Given the description of an element on the screen output the (x, y) to click on. 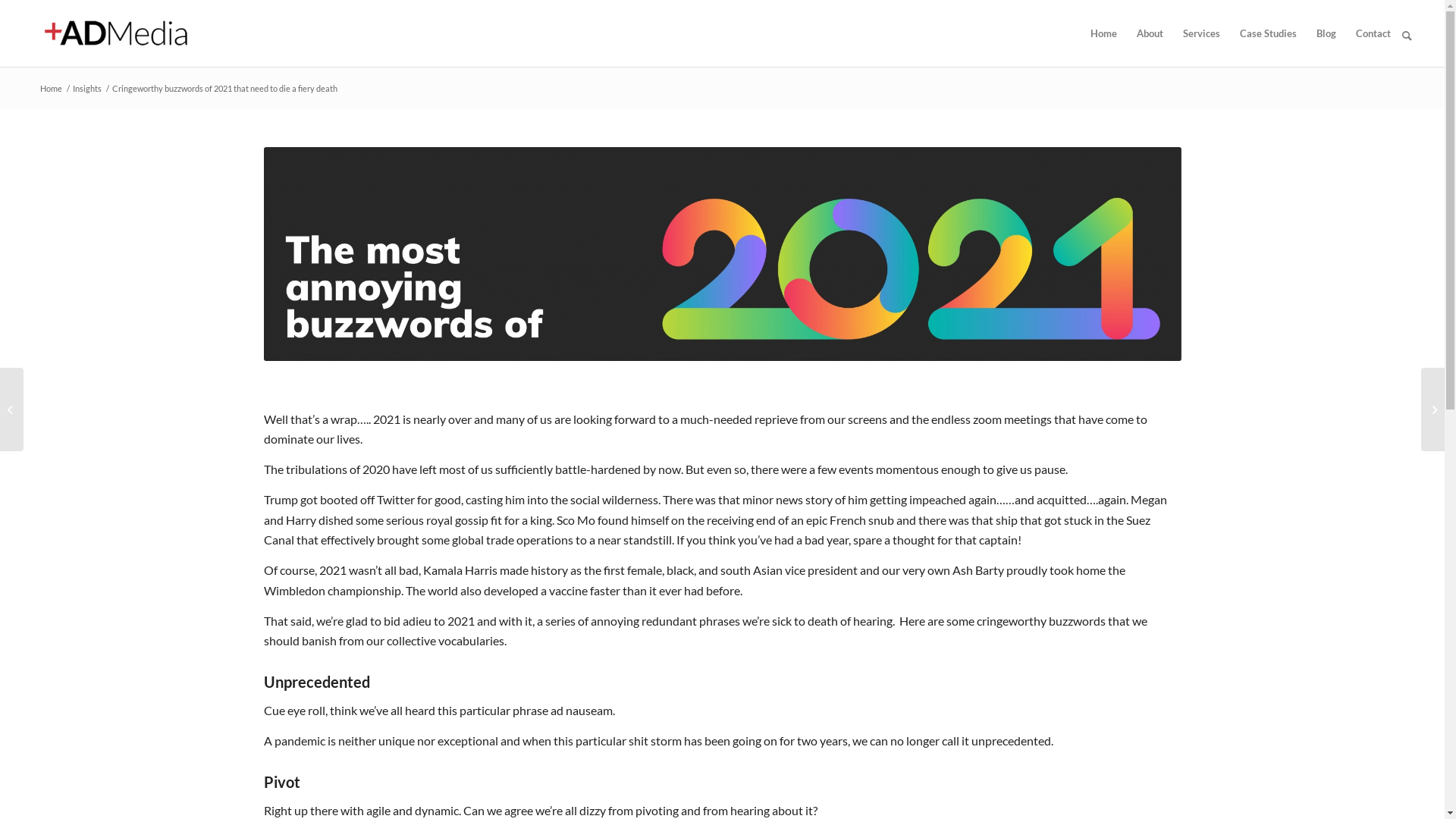
Case Studies Element type: text (1268, 33)
Services Element type: text (1201, 33)
Home Element type: text (50, 88)
Insights Element type: text (86, 88)
Contact Element type: text (1373, 33)
Blog Element type: text (1326, 33)
About Element type: text (1149, 33)
Home Element type: text (1103, 33)
